Given the description of an element on the screen output the (x, y) to click on. 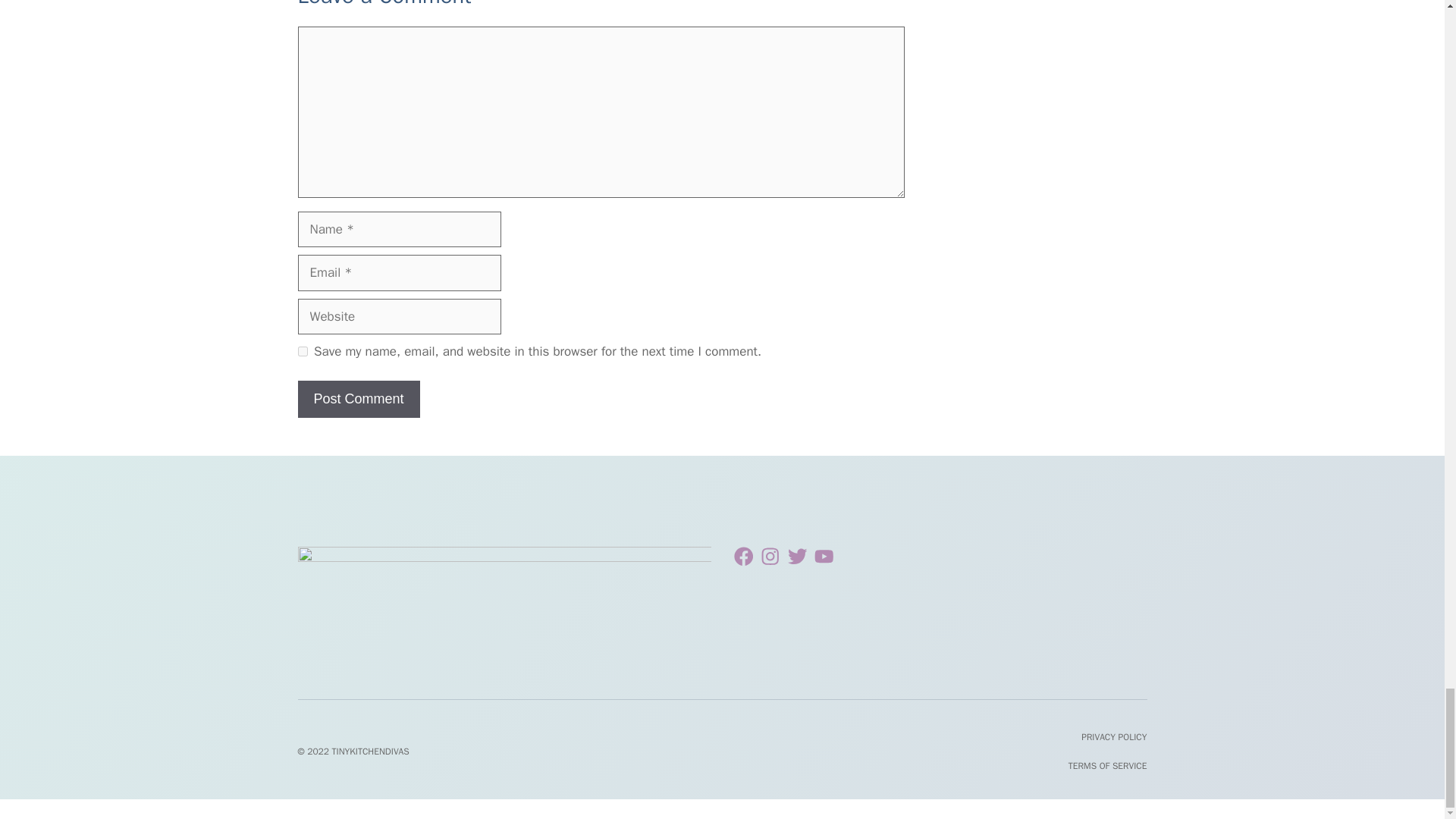
Post Comment (358, 398)
Post Comment (358, 398)
yes (302, 351)
